Given the description of an element on the screen output the (x, y) to click on. 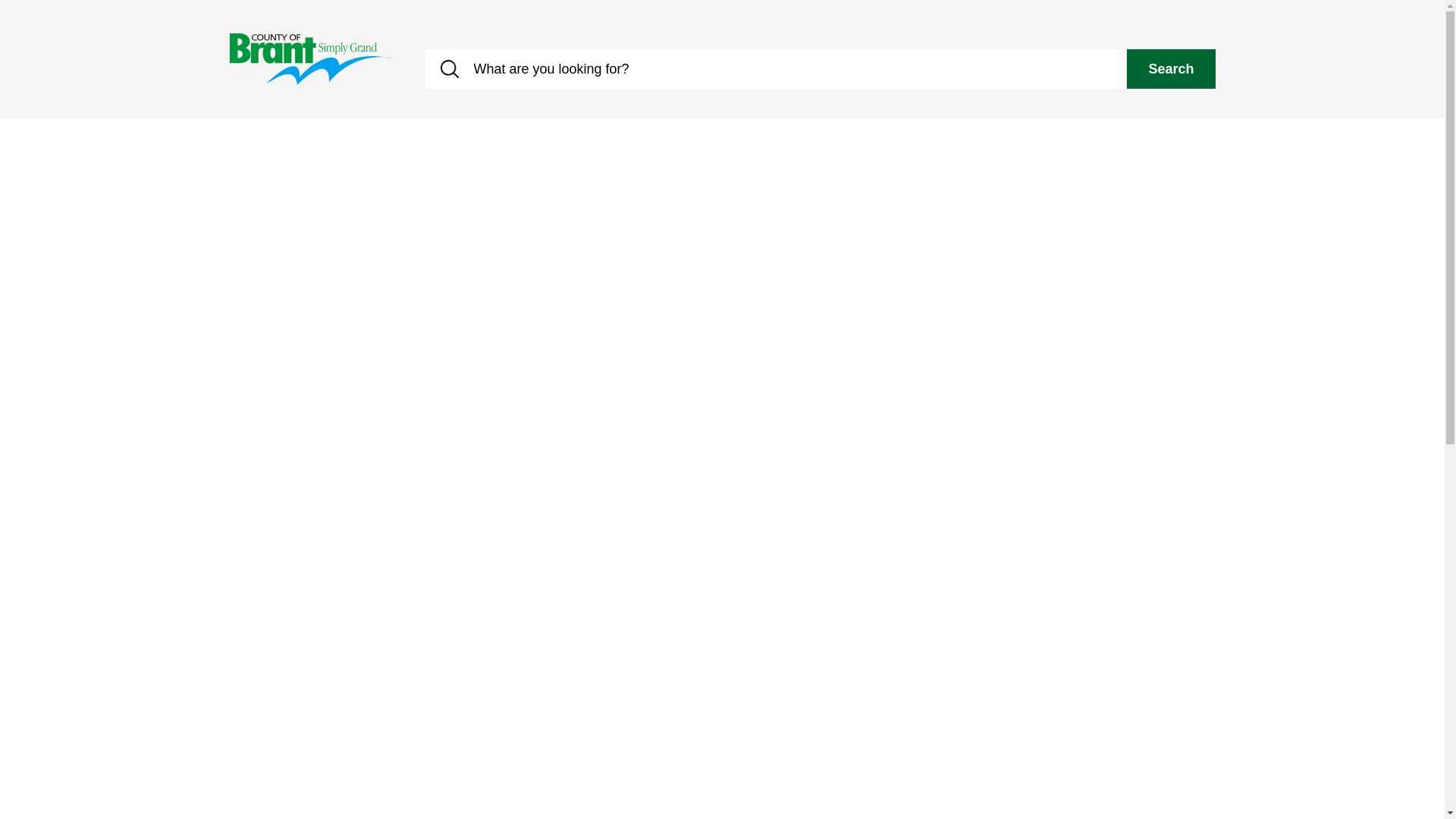
Enter search keywords (775, 68)
Search (1170, 68)
View our Homepage (309, 58)
Search (1170, 68)
